Given the description of an element on the screen output the (x, y) to click on. 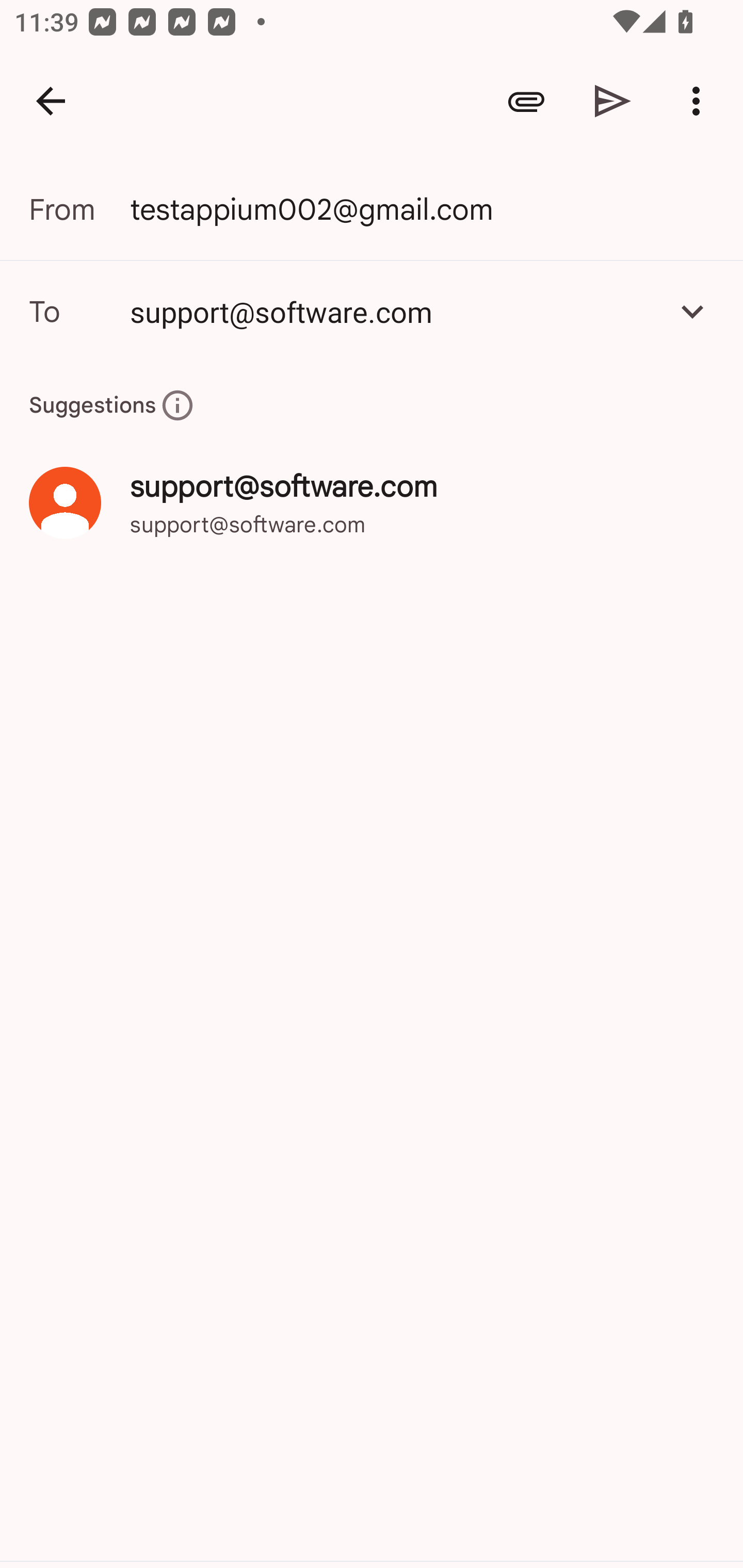
Navigate up (50, 101)
Attach file (525, 101)
Send (612, 101)
More options (699, 101)
From (79, 209)
Add Cc/Bcc (692, 311)
support@software.com (371, 311)
support@software.com (393, 311)
